Given the description of an element on the screen output the (x, y) to click on. 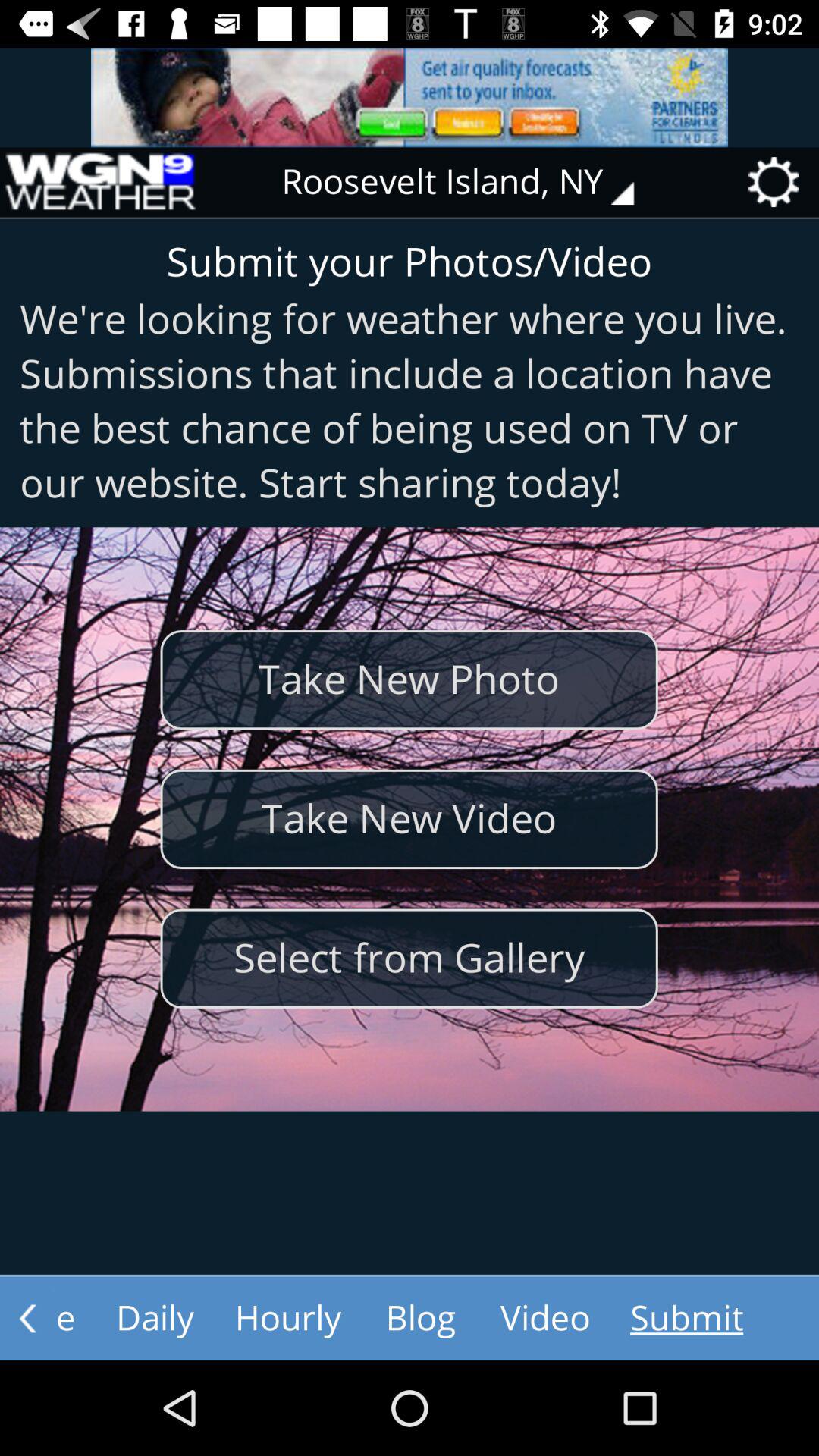
go to advertisement (409, 97)
